Given the description of an element on the screen output the (x, y) to click on. 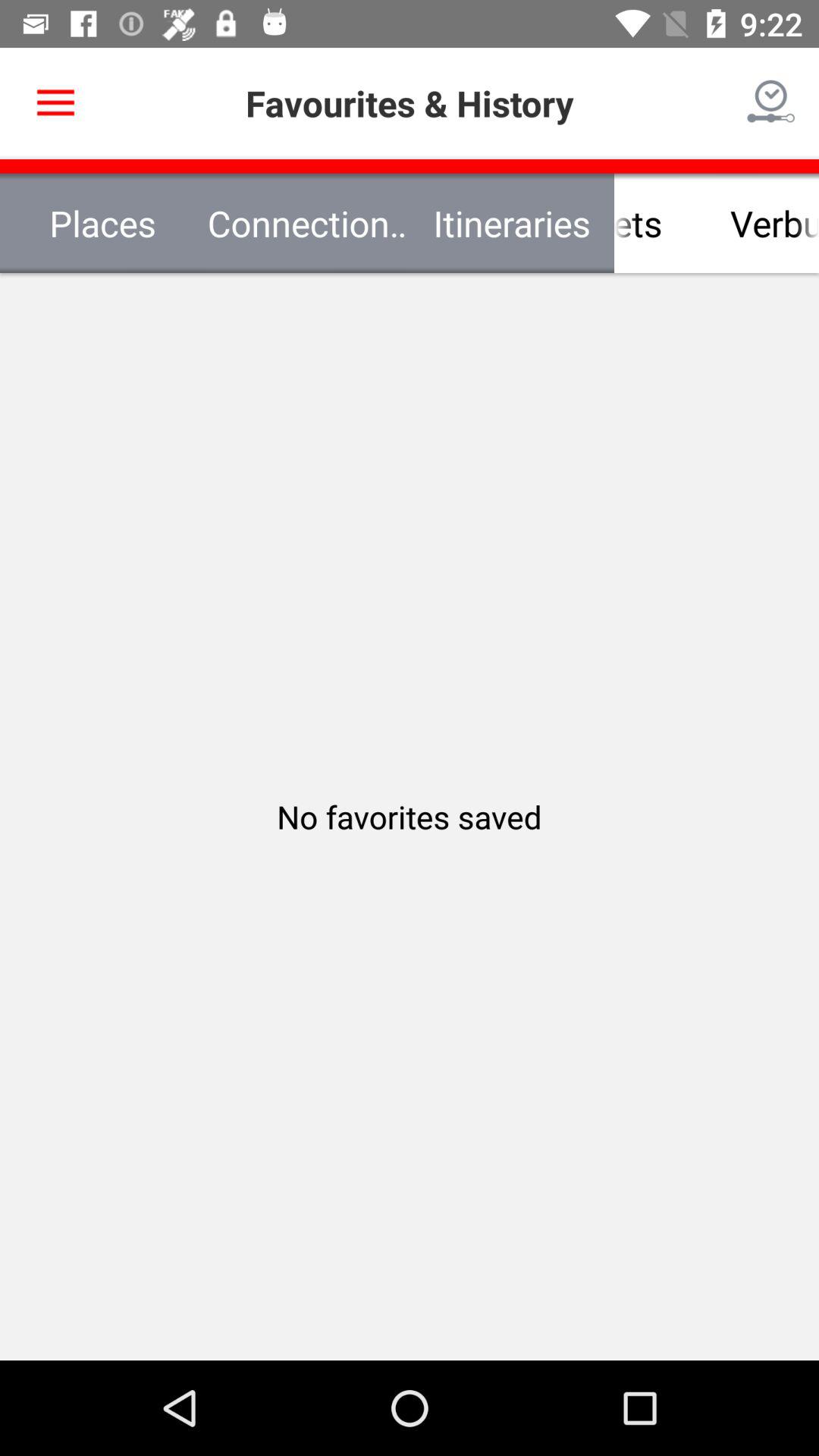
launch the item next to favourites & history icon (771, 103)
